Given the description of an element on the screen output the (x, y) to click on. 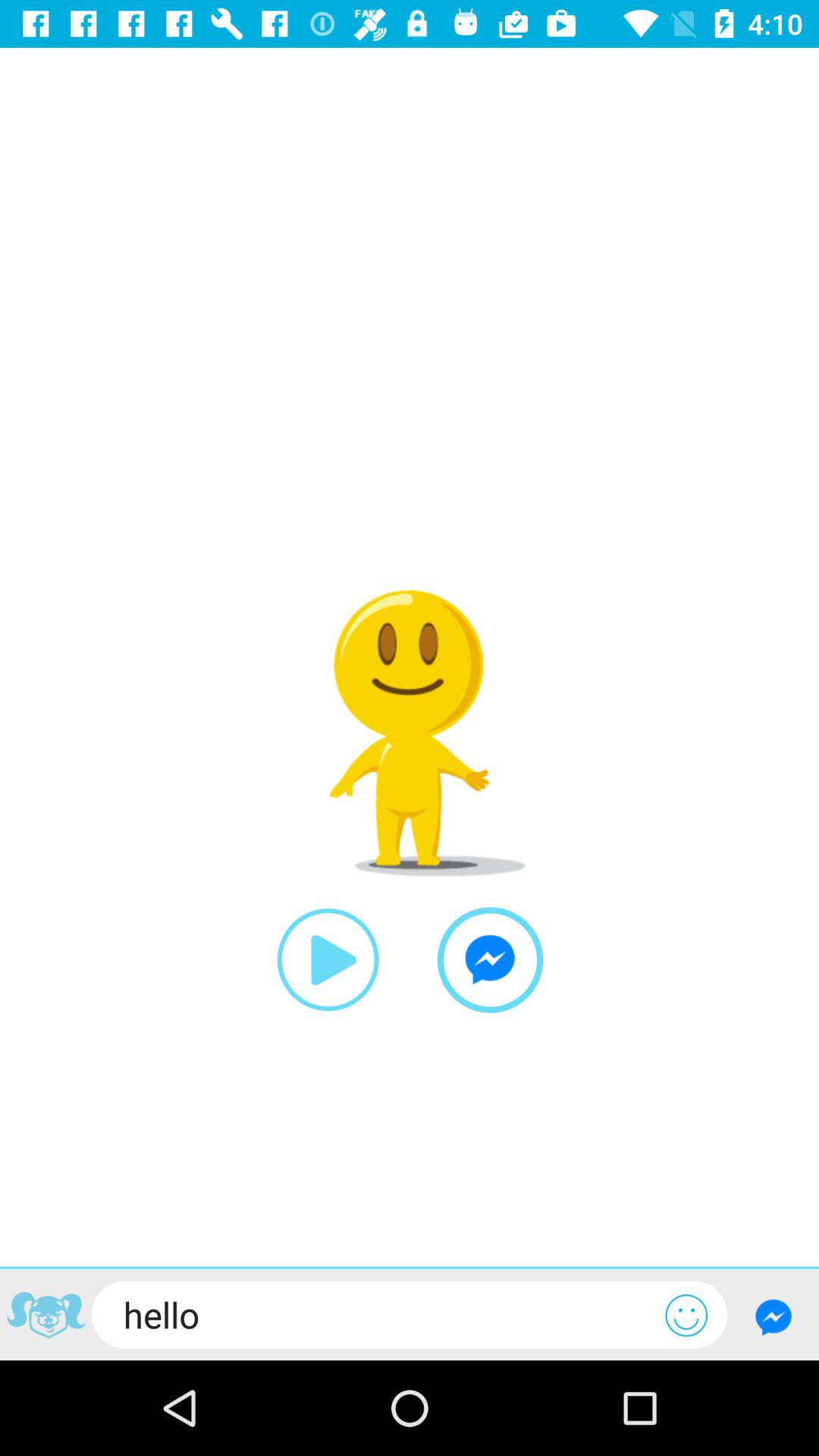
share to messenger (490, 959)
